Given the description of an element on the screen output the (x, y) to click on. 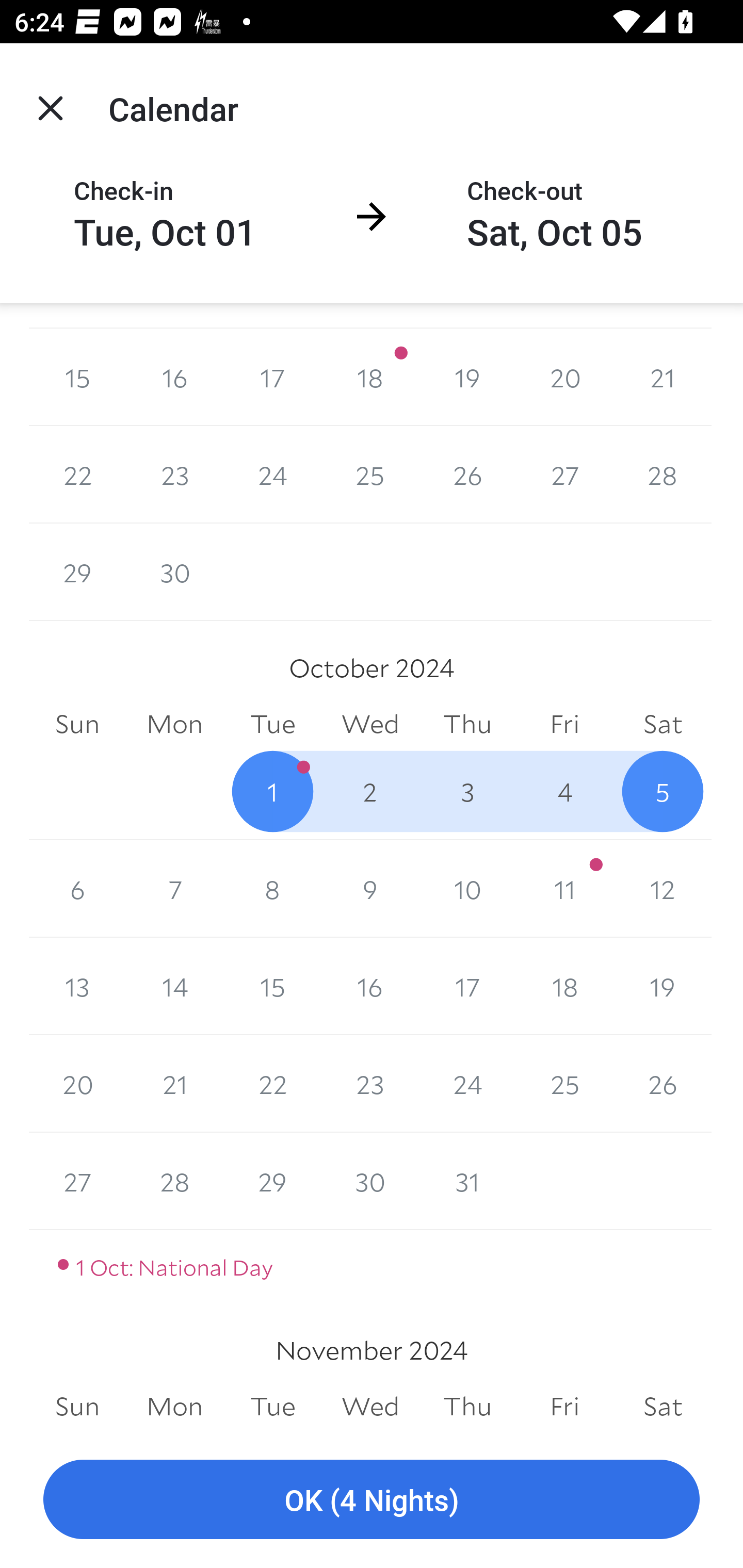
15 15 September 2024 (77, 377)
16 16 September 2024 (174, 377)
17 17 September 2024 (272, 377)
18 18 September 2024 (370, 377)
19 19 September 2024 (467, 377)
20 20 September 2024 (564, 377)
21 21 September 2024 (662, 377)
22 22 September 2024 (77, 474)
23 23 September 2024 (174, 474)
24 24 September 2024 (272, 474)
25 25 September 2024 (370, 474)
26 26 September 2024 (467, 474)
27 27 September 2024 (564, 474)
28 28 September 2024 (662, 474)
29 29 September 2024 (77, 571)
30 30 September 2024 (174, 571)
Sun (77, 724)
Mon (174, 724)
Tue (272, 724)
Wed (370, 724)
Thu (467, 724)
Fri (564, 724)
Sat (662, 724)
29 29 October 2024 (77, 791)
30 30 October 2024 (174, 791)
1 1 October 2024 (272, 791)
2 2 October 2024 (370, 791)
3 3 October 2024 (467, 791)
4 4 October 2024 (564, 791)
5 5 October 2024 (662, 791)
6 6 October 2024 (77, 888)
7 7 October 2024 (174, 888)
8 8 October 2024 (272, 888)
9 9 October 2024 (370, 888)
10 10 October 2024 (467, 888)
11 11 October 2024 (564, 888)
12 12 October 2024 (662, 888)
13 13 October 2024 (77, 985)
14 14 October 2024 (174, 985)
15 15 October 2024 (272, 985)
16 16 October 2024 (370, 985)
17 17 October 2024 (467, 985)
18 18 October 2024 (564, 985)
19 19 October 2024 (662, 985)
20 20 October 2024 (77, 1083)
21 21 October 2024 (174, 1083)
22 22 October 2024 (272, 1083)
23 23 October 2024 (370, 1083)
24 24 October 2024 (467, 1083)
25 25 October 2024 (564, 1083)
26 26 October 2024 (662, 1083)
27 27 October 2024 (77, 1181)
28 28 October 2024 (174, 1181)
29 29 October 2024 (272, 1181)
30 30 October 2024 (370, 1181)
31 31 October 2024 (467, 1181)
Sun (77, 1406)
Mon (174, 1406)
Tue (272, 1406)
Wed (370, 1406)
Thu (467, 1406)
Fri (564, 1406)
Sat (662, 1406)
OK (4 Nights) (371, 1499)
